Given the description of an element on the screen output the (x, y) to click on. 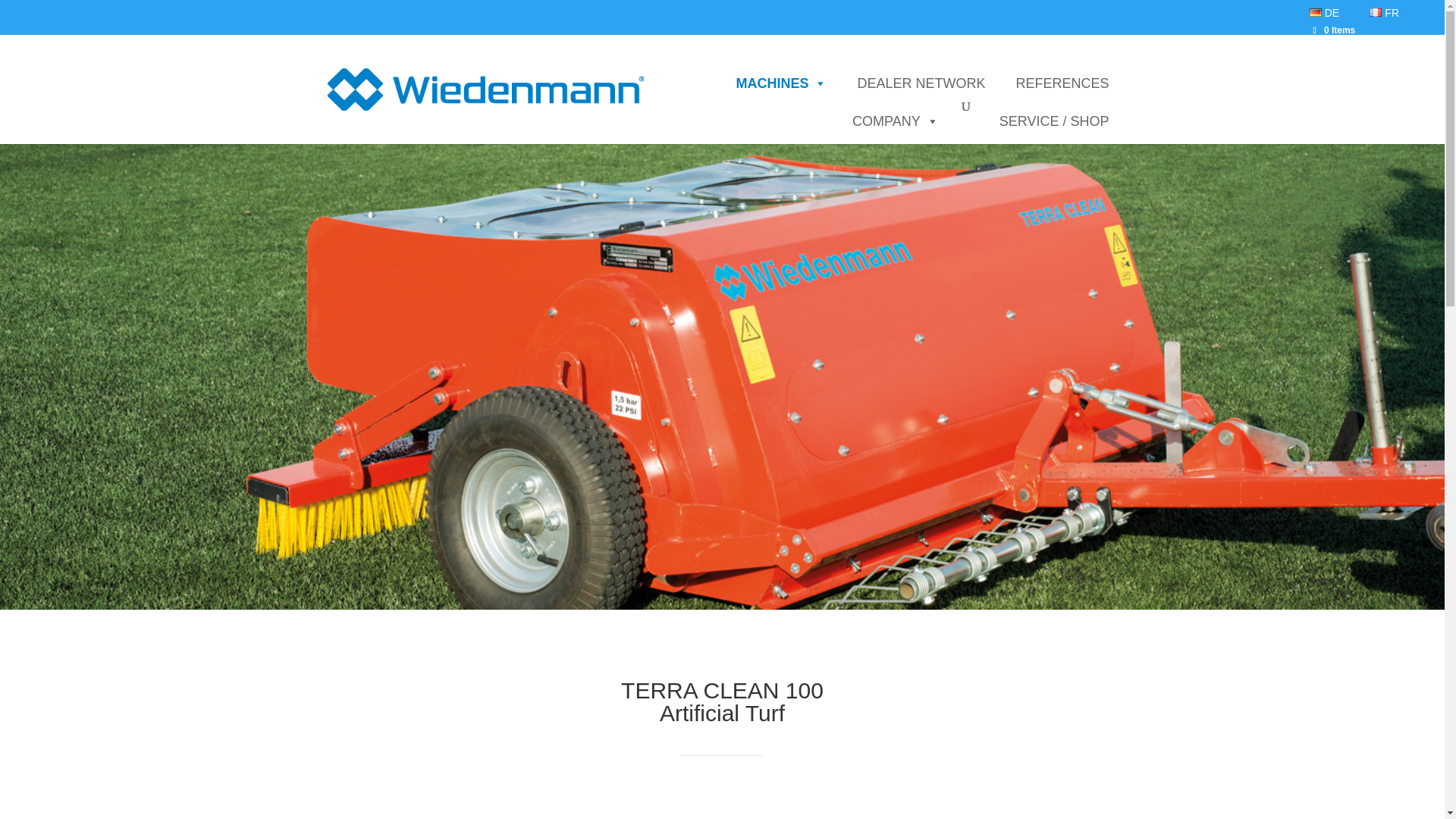
FR (1383, 12)
0 Items (1334, 30)
DE (1323, 12)
MACHINES (781, 83)
